Given the description of an element on the screen output the (x, y) to click on. 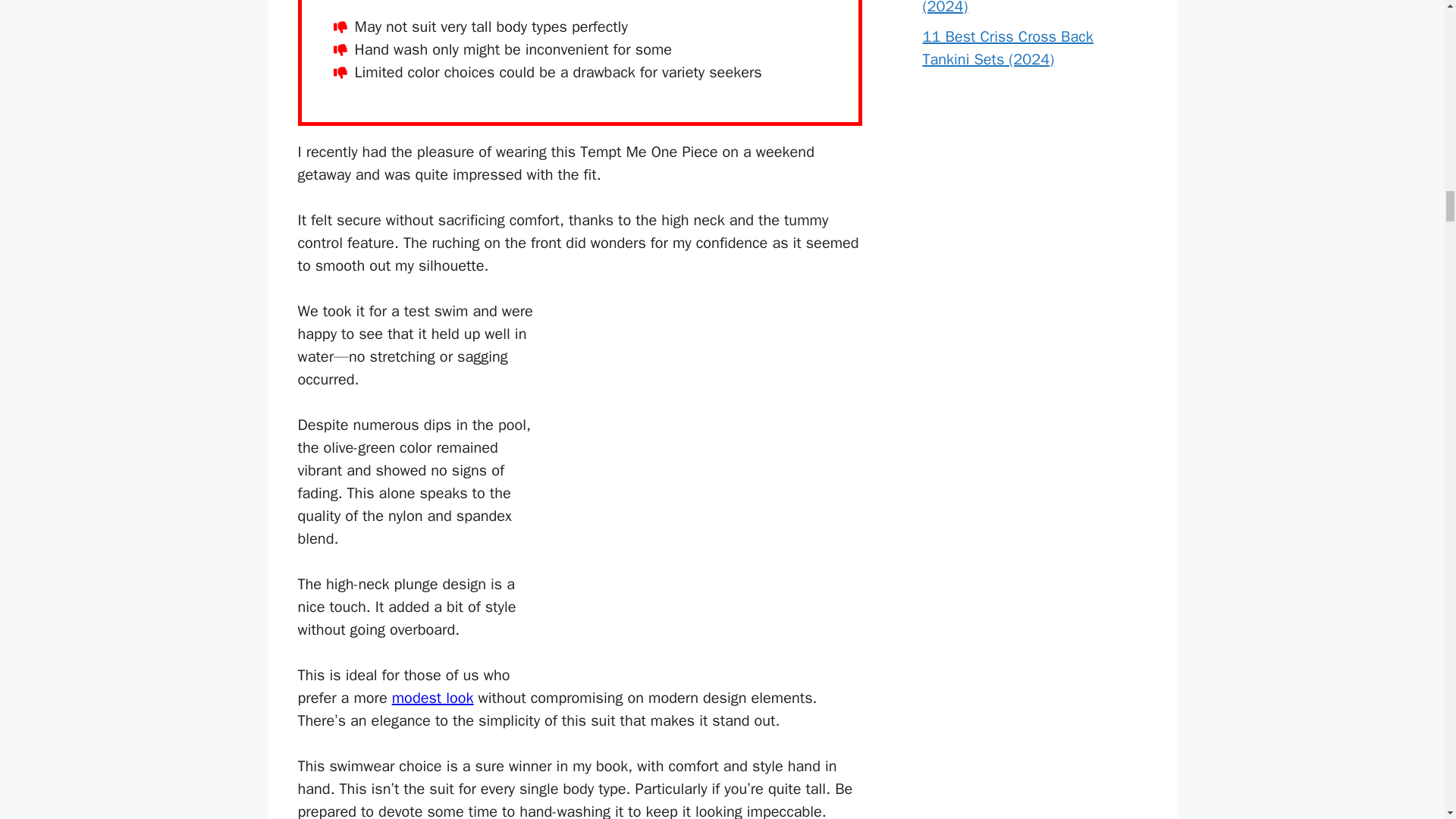
modest look (432, 697)
model wearing Tempt Me Olive Swimsuit. Rear view (709, 489)
